Given the description of an element on the screen output the (x, y) to click on. 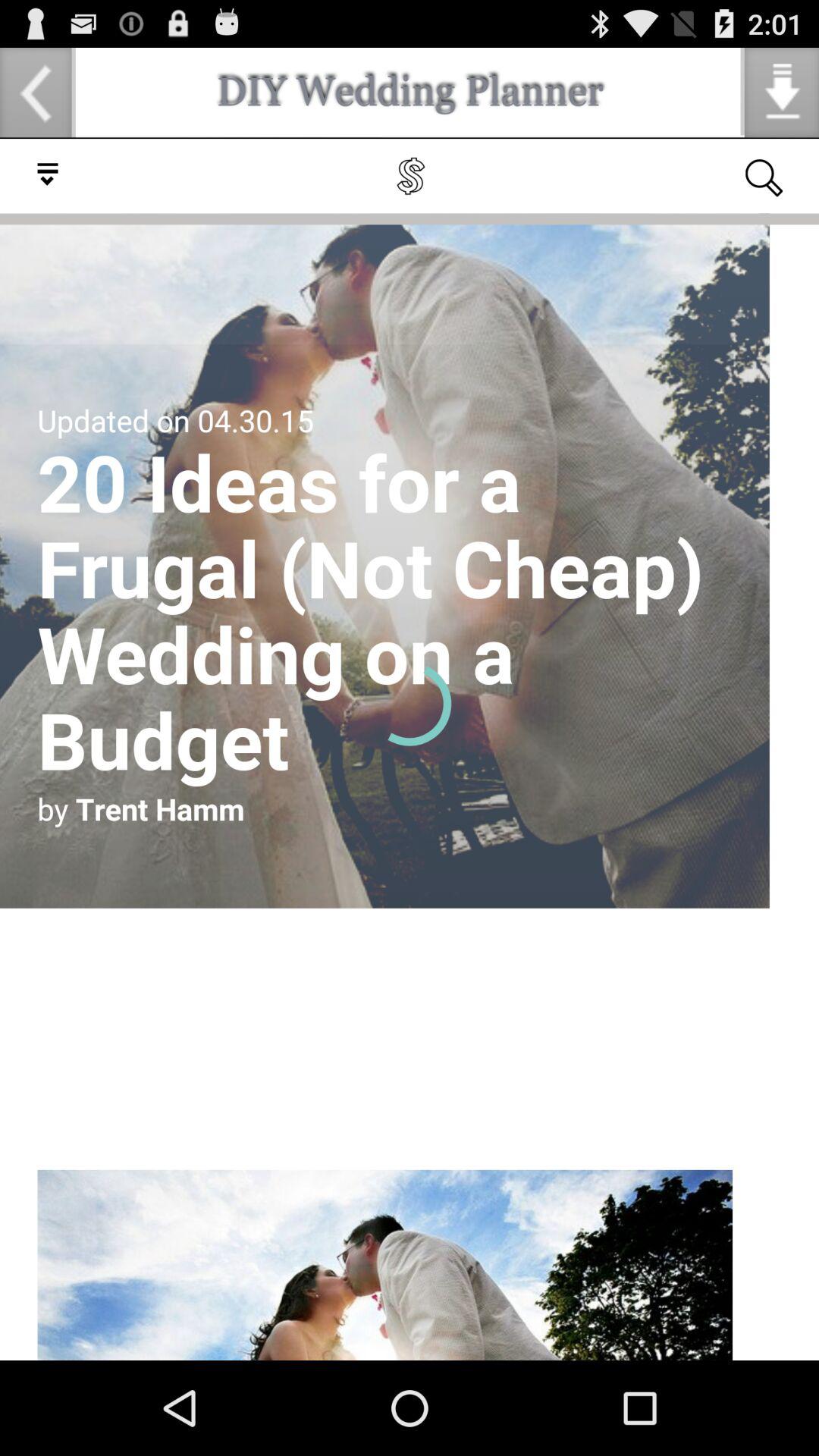
check the article (409, 749)
